Given the description of an element on the screen output the (x, y) to click on. 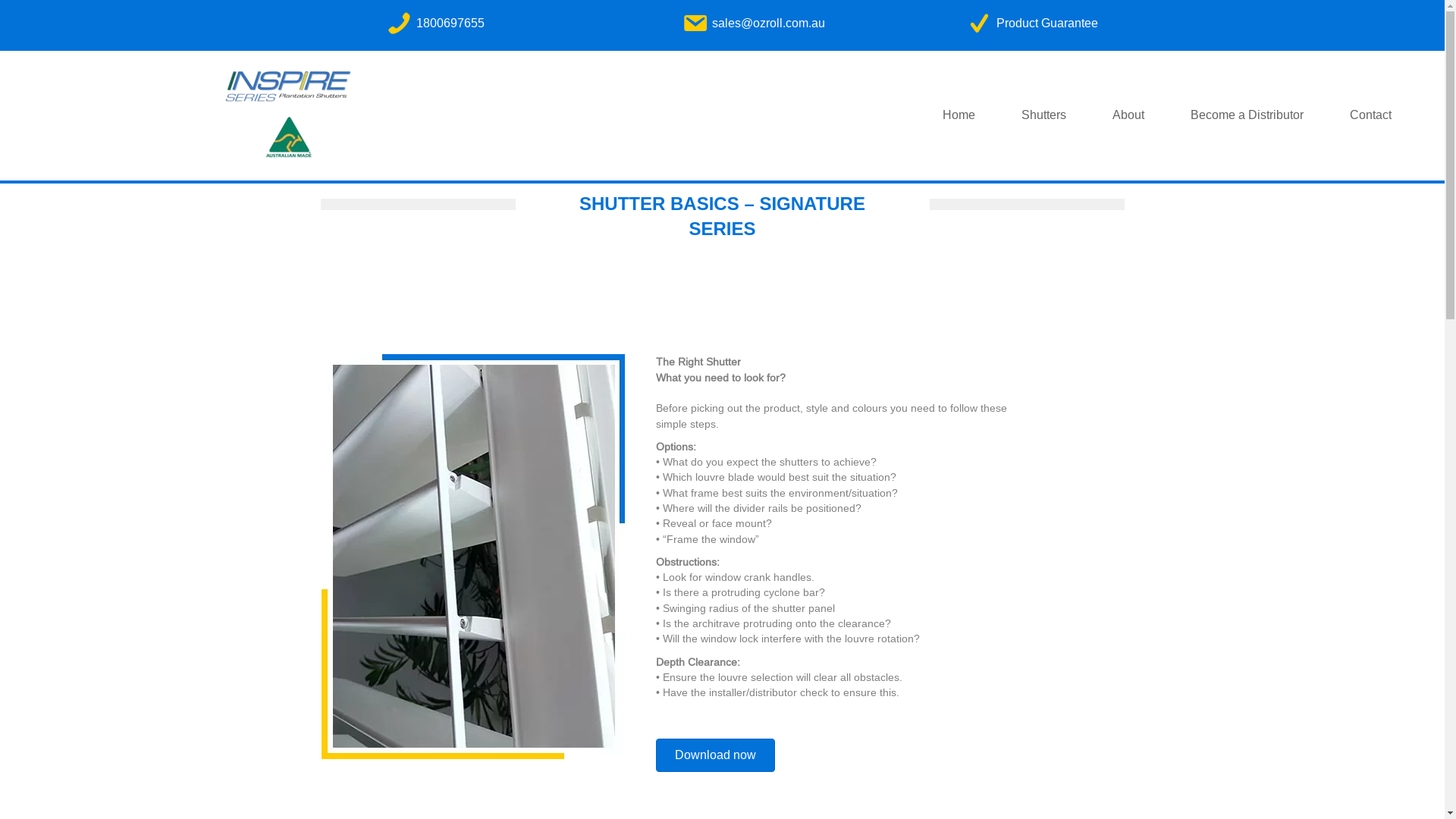
Shutters Element type: text (1043, 114)
Download now Element type: text (715, 754)
signature-series-img001 Element type: hover (472, 556)
Contact Element type: text (1370, 114)
sales@ozroll.com.au Element type: text (768, 22)
About Element type: text (1128, 114)
Home Element type: text (958, 114)
Product Guarantee Element type: text (1047, 22)
Inspire Plantation Shutters Element type: hover (287, 115)
Become a Distributor Element type: text (1246, 114)
1800697655 Element type: text (450, 22)
